Given the description of an element on the screen output the (x, y) to click on. 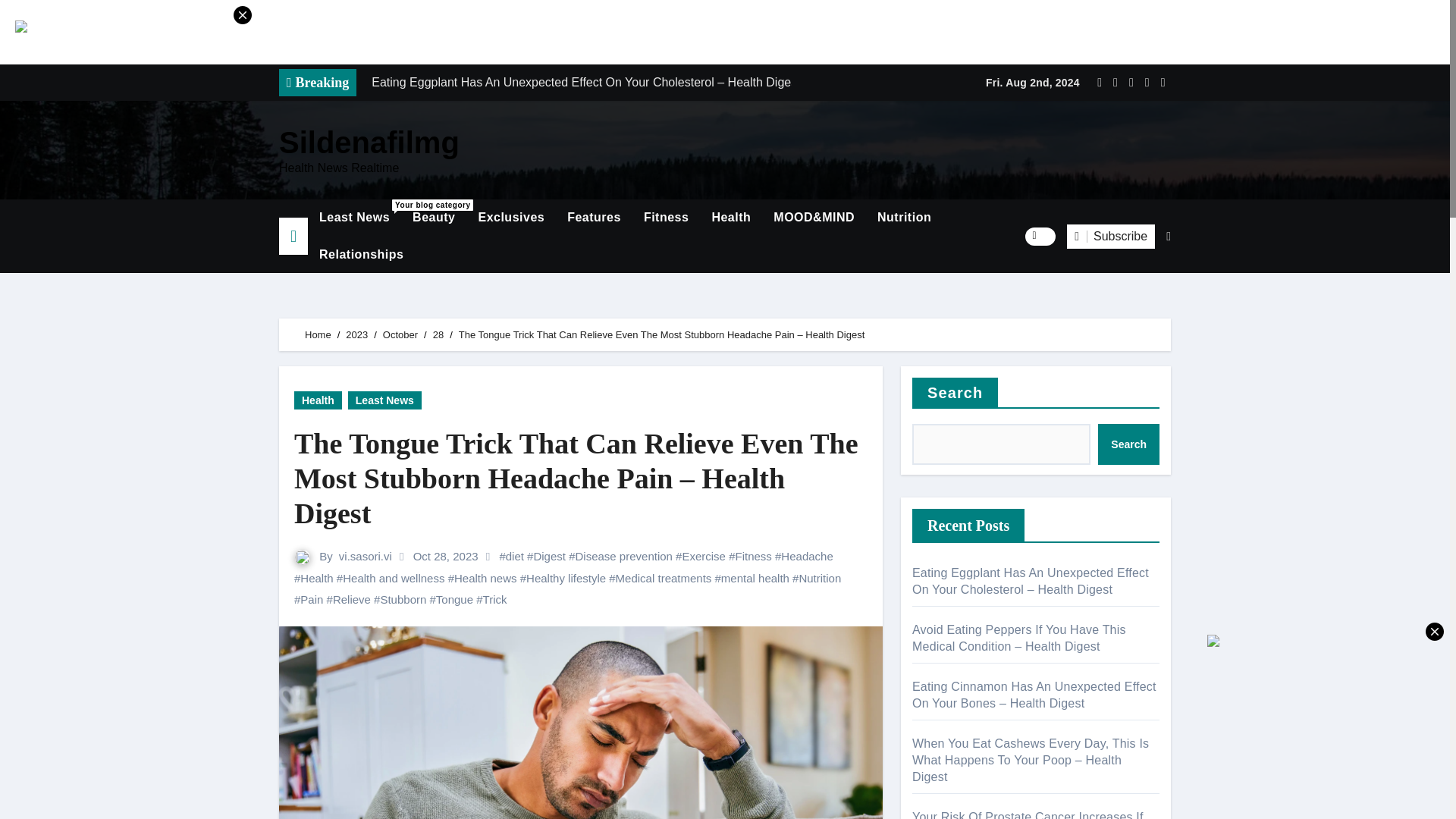
Sildenafilmg (369, 142)
Least News (354, 217)
Nutrition (904, 217)
Exclusives (510, 217)
Features (593, 217)
Relationships (360, 254)
Health (730, 217)
Nutrition (904, 217)
Subscribe (1110, 236)
2023 (357, 334)
Home (317, 334)
October (399, 334)
Fitness (665, 217)
Relationships (360, 254)
Health (730, 217)
